Given the description of an element on the screen output the (x, y) to click on. 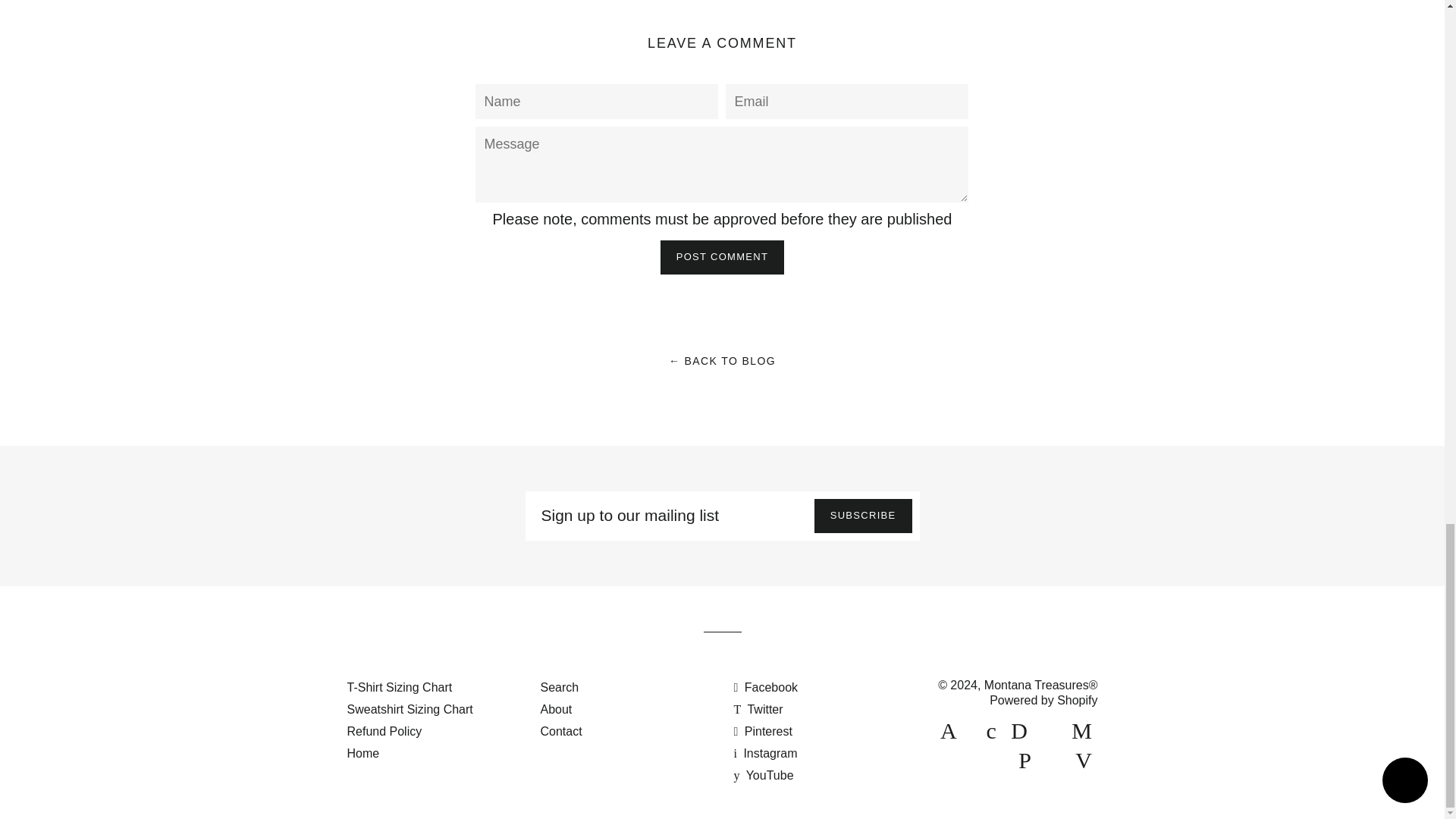
Montana Treasures on Facebook (765, 686)
Montana Treasures on Instagram (765, 753)
Montana Treasures on YouTube (763, 775)
Montana Treasures on Twitter (758, 708)
Post comment (722, 256)
Montana Treasures on Pinterest (762, 730)
